Given the description of an element on the screen output the (x, y) to click on. 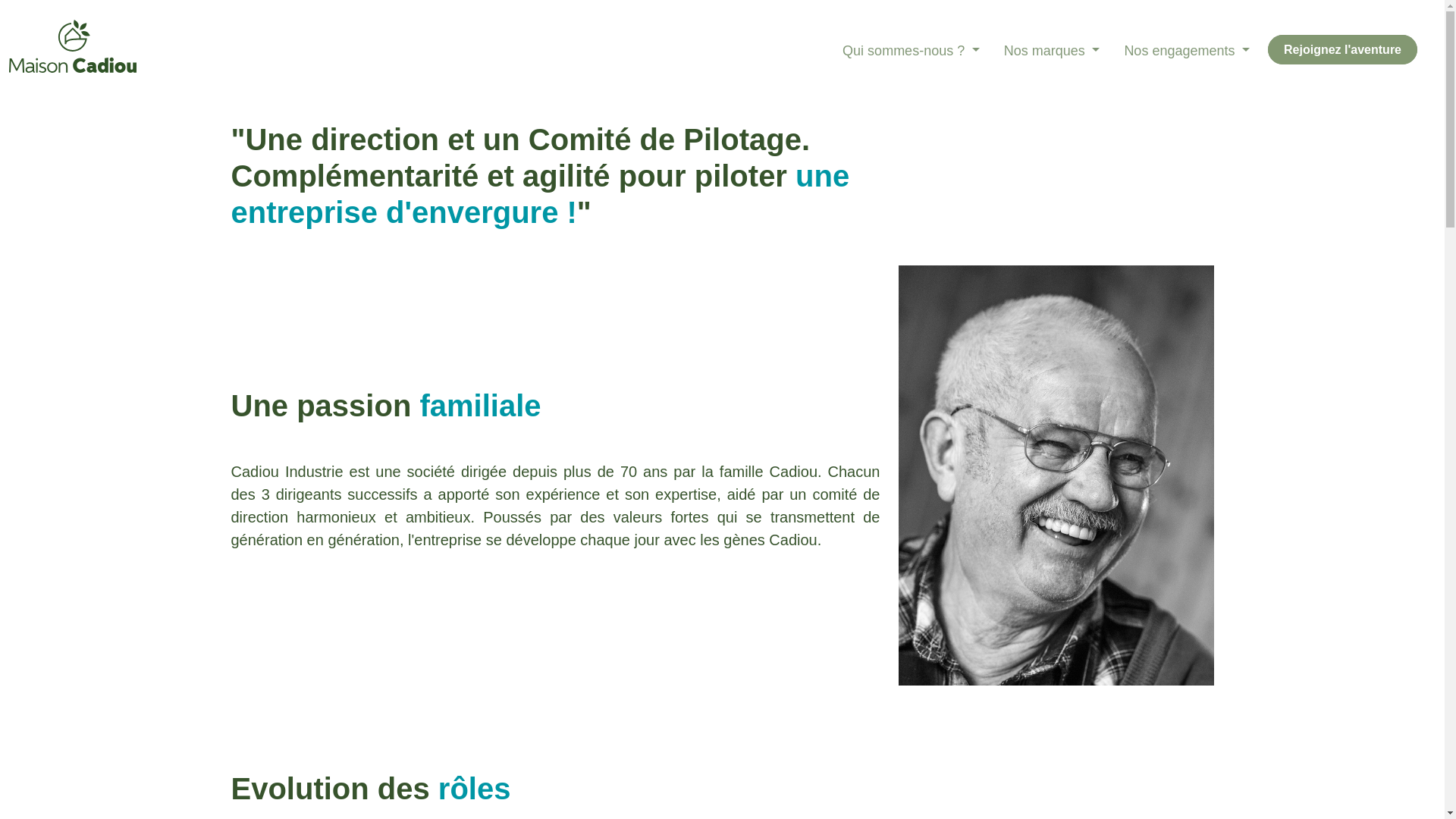
Rejoignez l'aventure Element type: text (1342, 49)
Qui sommes-nous ? Element type: text (910, 50)
Ronan Cadiou Element type: hover (1055, 475)
Nos engagements Element type: text (1186, 50)
Nos marques Element type: text (1051, 50)
